Given the description of an element on the screen output the (x, y) to click on. 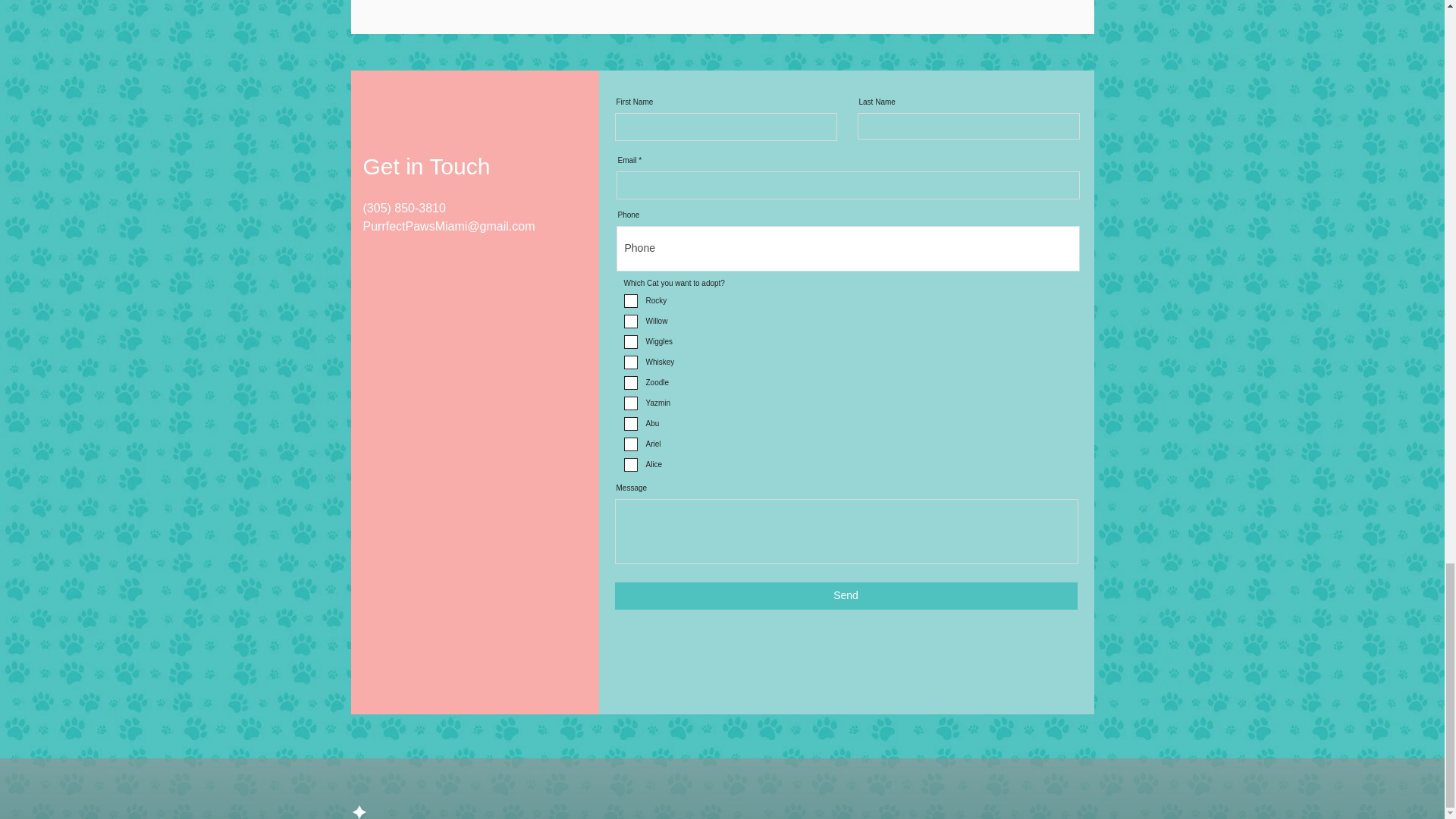
Send (845, 595)
